Given the description of an element on the screen output the (x, y) to click on. 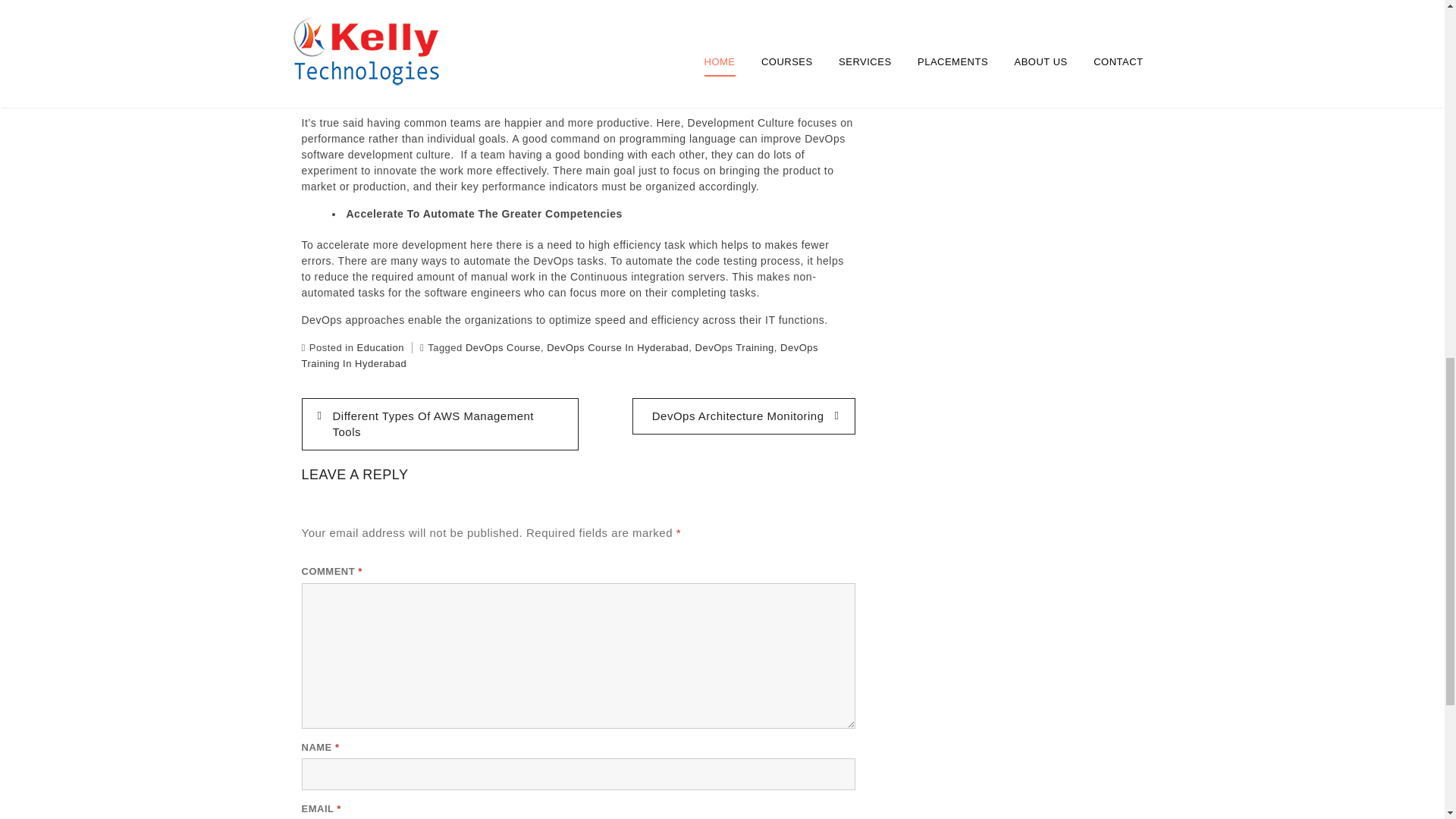
DevOps Course In Hyderabad (617, 347)
DevOps Course (502, 347)
DevOps Training (734, 347)
DevOps Training In Hyderabad (559, 355)
Different Types Of AWS Management Tools (439, 424)
DevOps Architecture Monitoring (743, 416)
Education (380, 347)
